Given the description of an element on the screen output the (x, y) to click on. 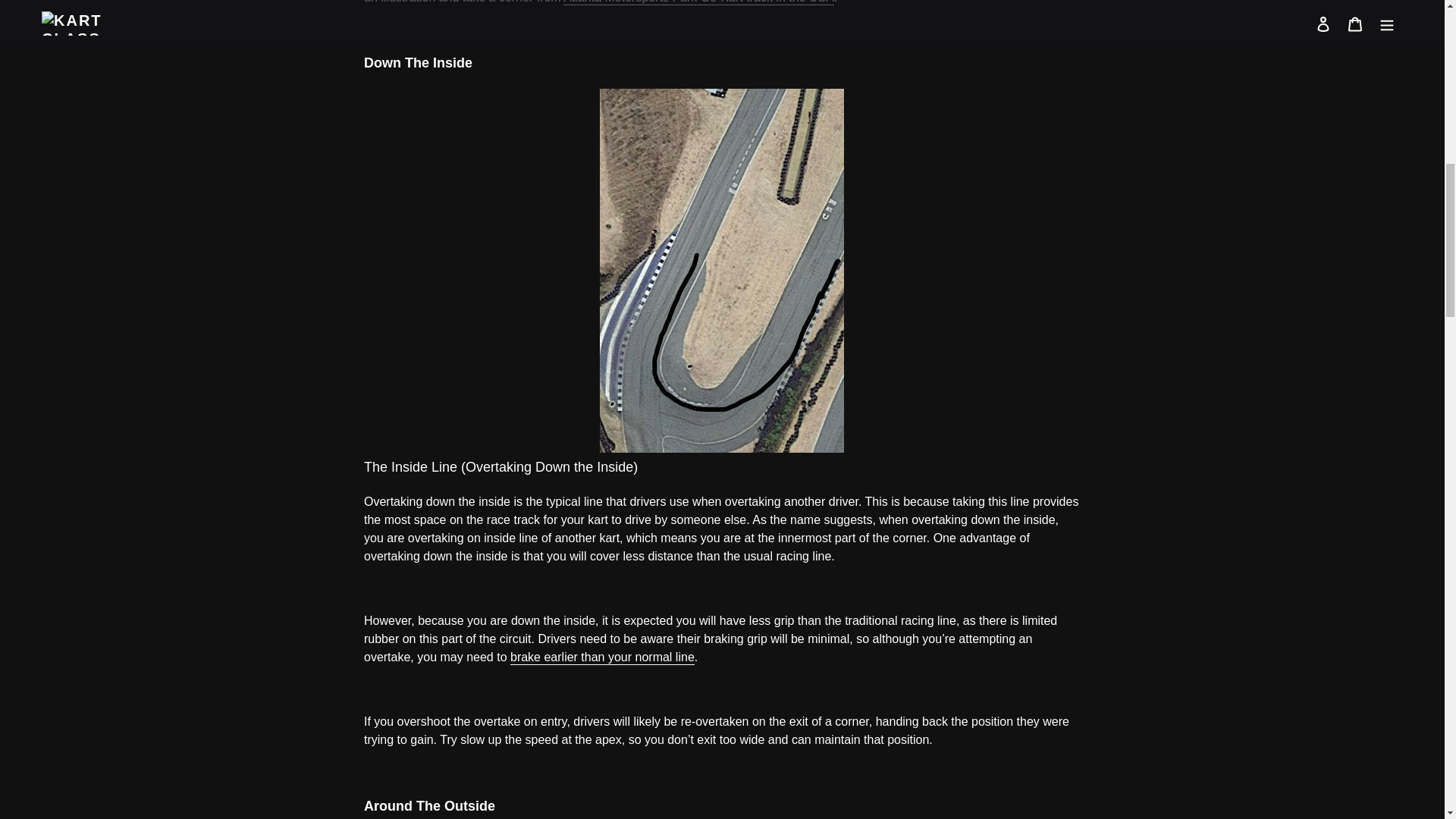
brake earlier than your normal line (602, 657)
Atlanta Motorsports Park Go-Kart track in the USA (698, 2)
